Given the description of an element on the screen output the (x, y) to click on. 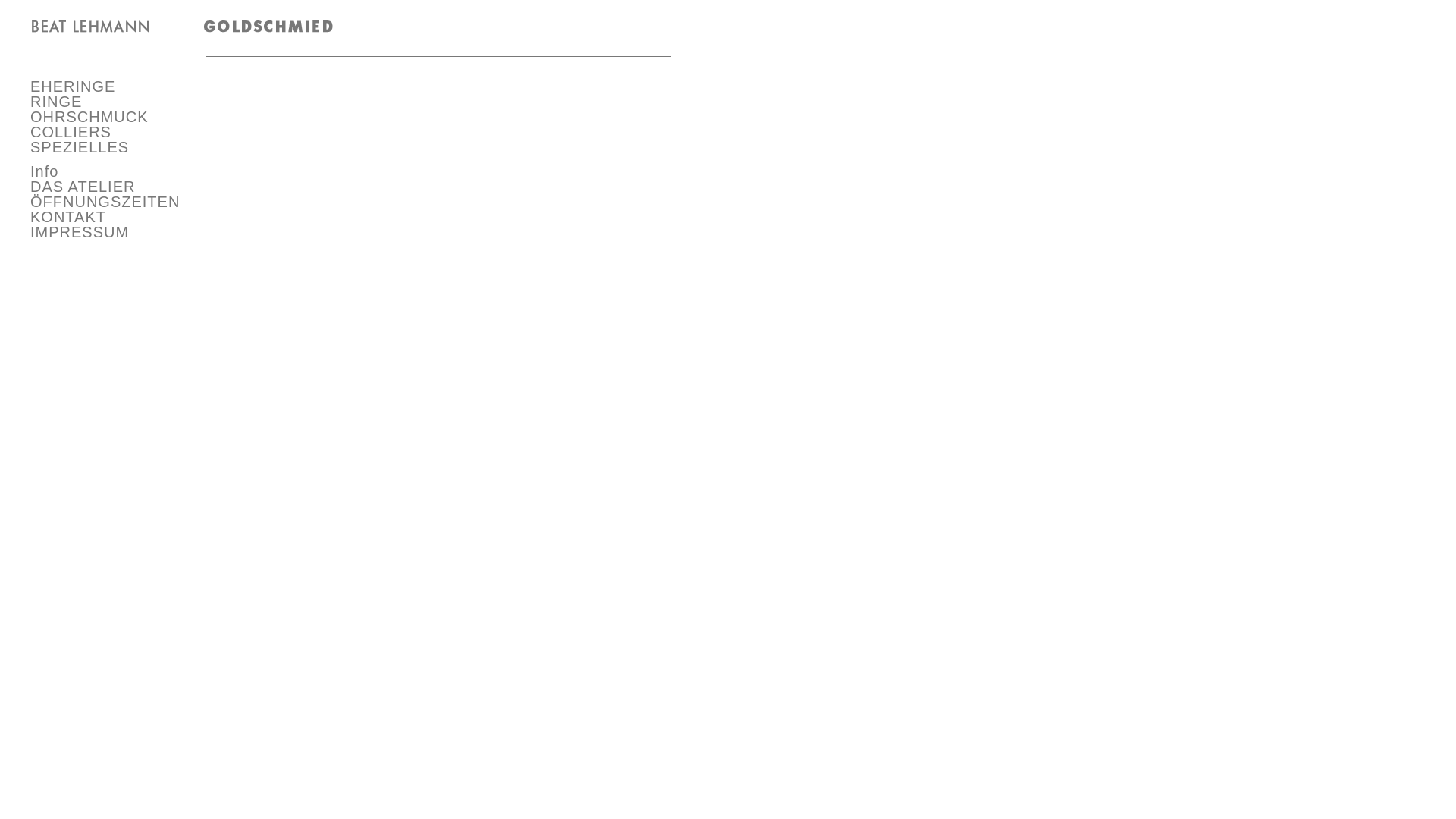
Info Element type: text (44, 171)
RINGE Element type: text (55, 101)
SPEZIELLES Element type: text (79, 146)
EHERINGE Element type: text (72, 86)
IMPRESSUM Element type: text (79, 231)
DAS ATELIER Element type: text (82, 186)
OHRSCHMUCK Element type: text (89, 116)
COLLIERS Element type: text (70, 131)
